Given the description of an element on the screen output the (x, y) to click on. 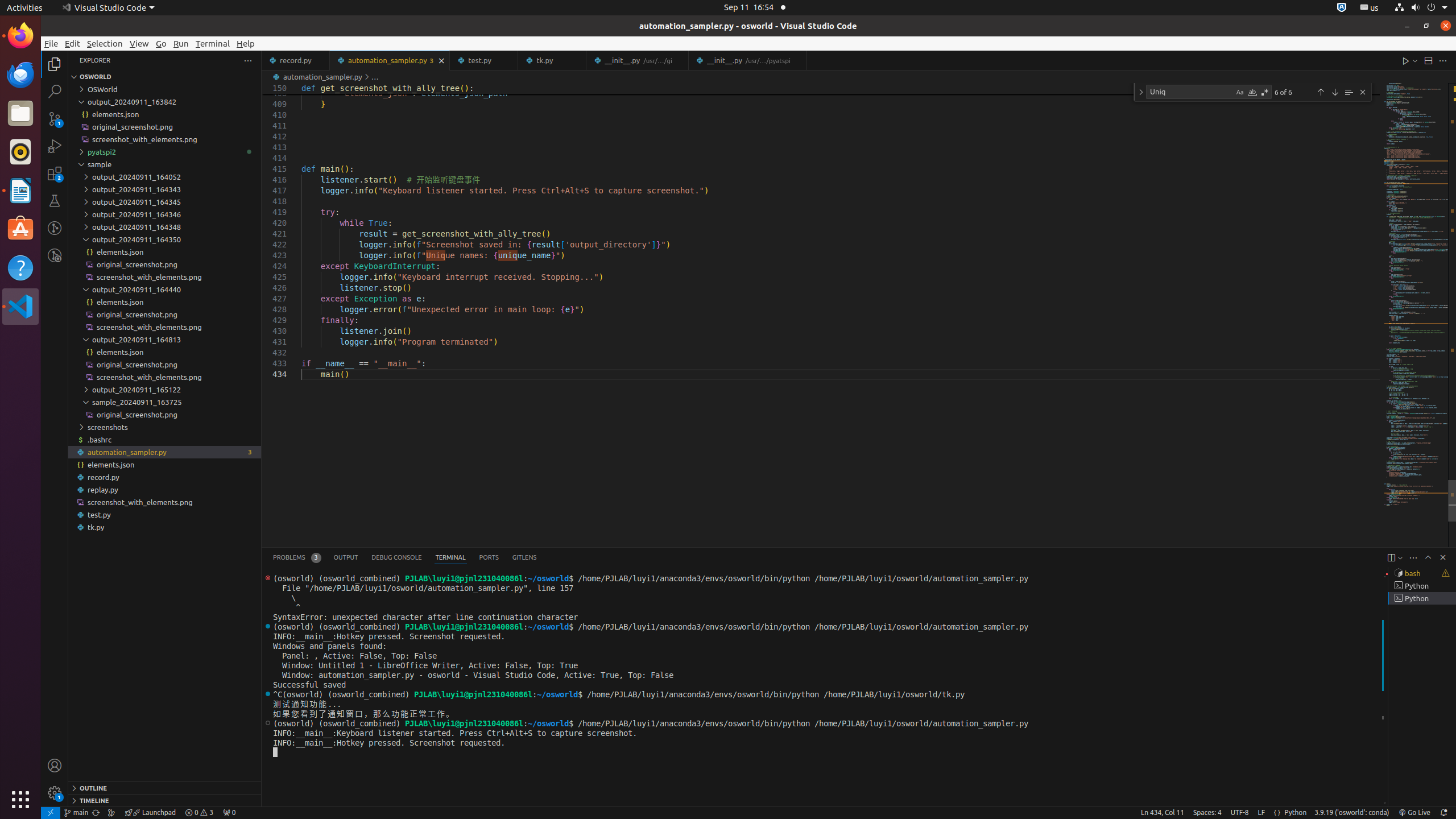
Toggle Replace Element type: push-button (1140, 92)
Terminal Element type: push-button (212, 43)
Terminal 1 bash Element type: list-item (1422, 573)
record.py Element type: tree-item (164, 476)
